Given the description of an element on the screen output the (x, y) to click on. 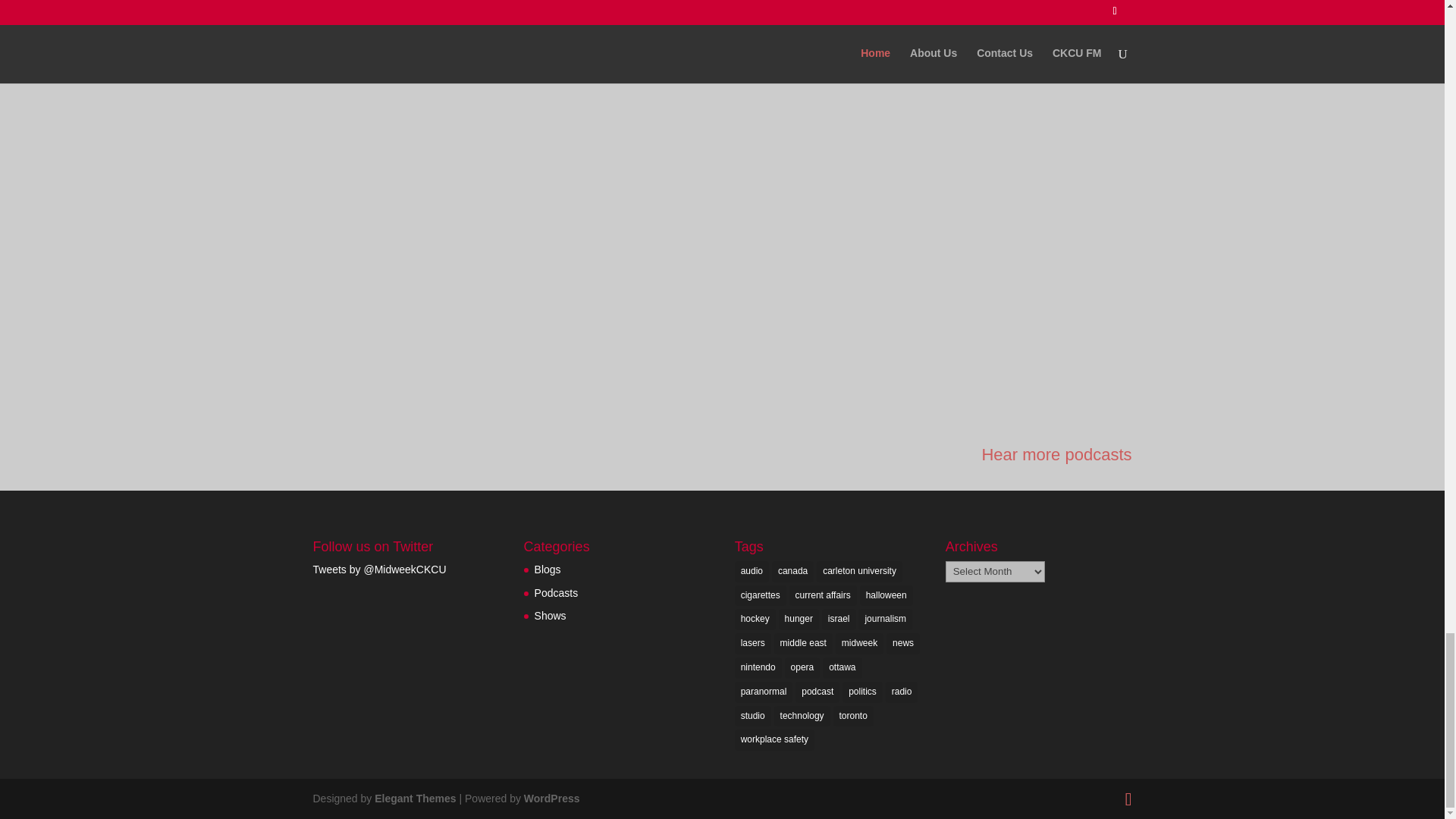
Hear more podcasts (1056, 454)
Shows (550, 615)
audio (751, 571)
hockey (755, 619)
Premium WordPress Themes (414, 798)
halloween (886, 595)
current affairs (823, 595)
carleton university (859, 571)
canada (792, 571)
Podcasts (556, 592)
